Given the description of an element on the screen output the (x, y) to click on. 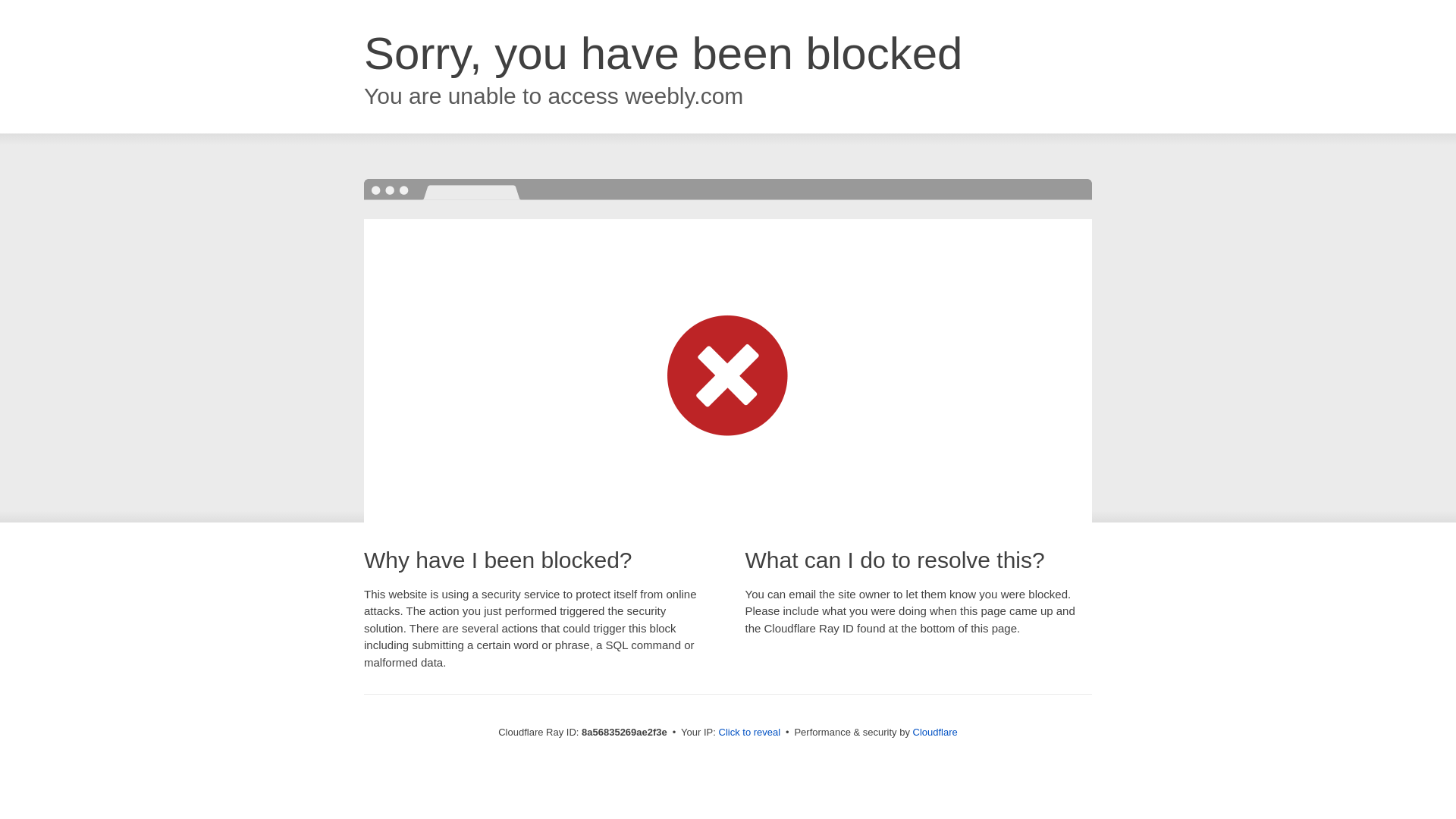
Cloudflare (935, 731)
Click to reveal (749, 732)
